Given the description of an element on the screen output the (x, y) to click on. 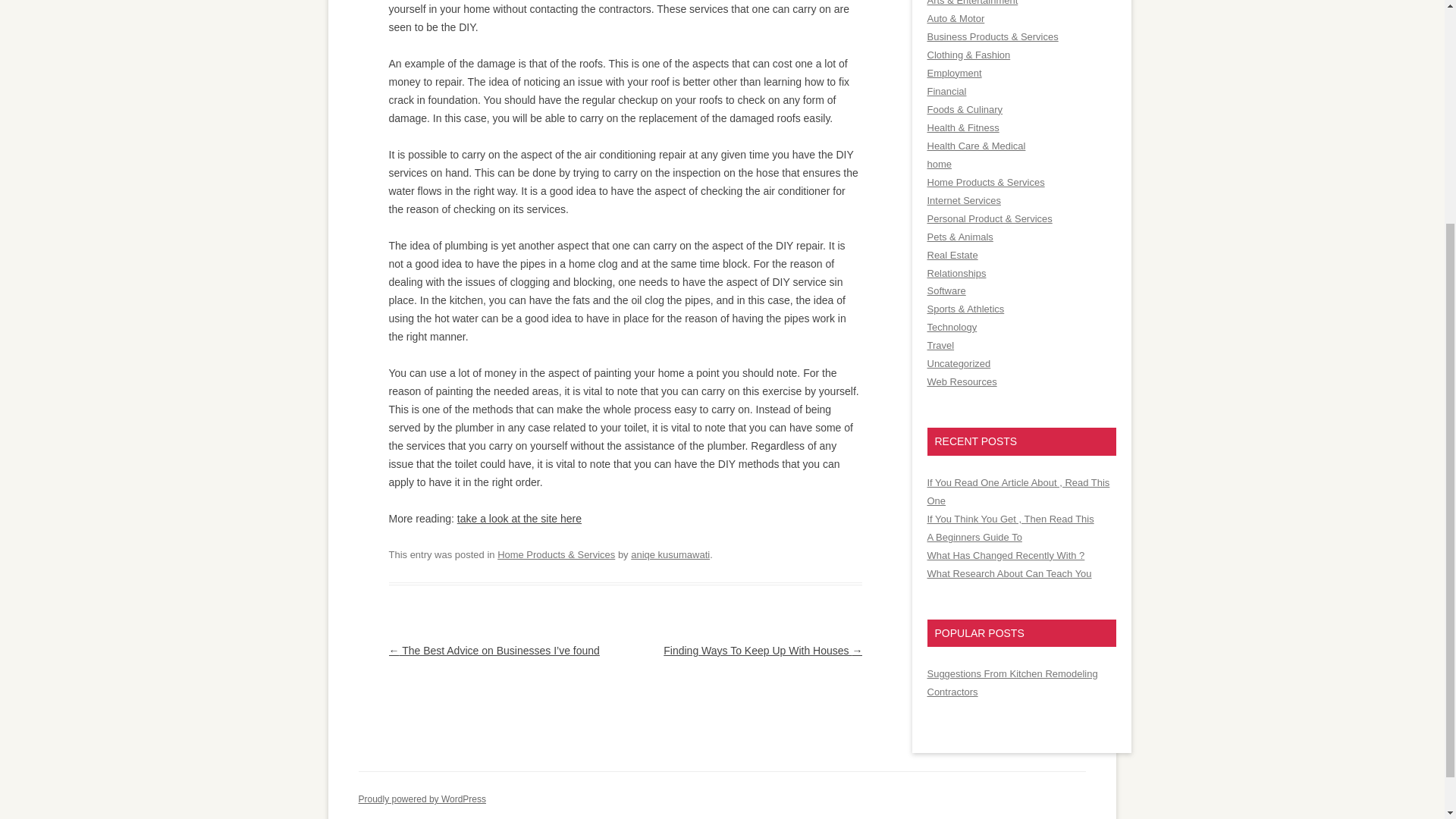
Internet Services (963, 200)
take a look at the site here (518, 518)
Technology (951, 326)
home (938, 163)
Uncategorized (958, 363)
What Research About Can Teach You (1008, 573)
Travel (939, 345)
Suggestions From Kitchen Remodeling Contractors (1011, 682)
Real Estate (951, 255)
View all posts by aniqe kusumawati (670, 554)
